Given the description of an element on the screen output the (x, y) to click on. 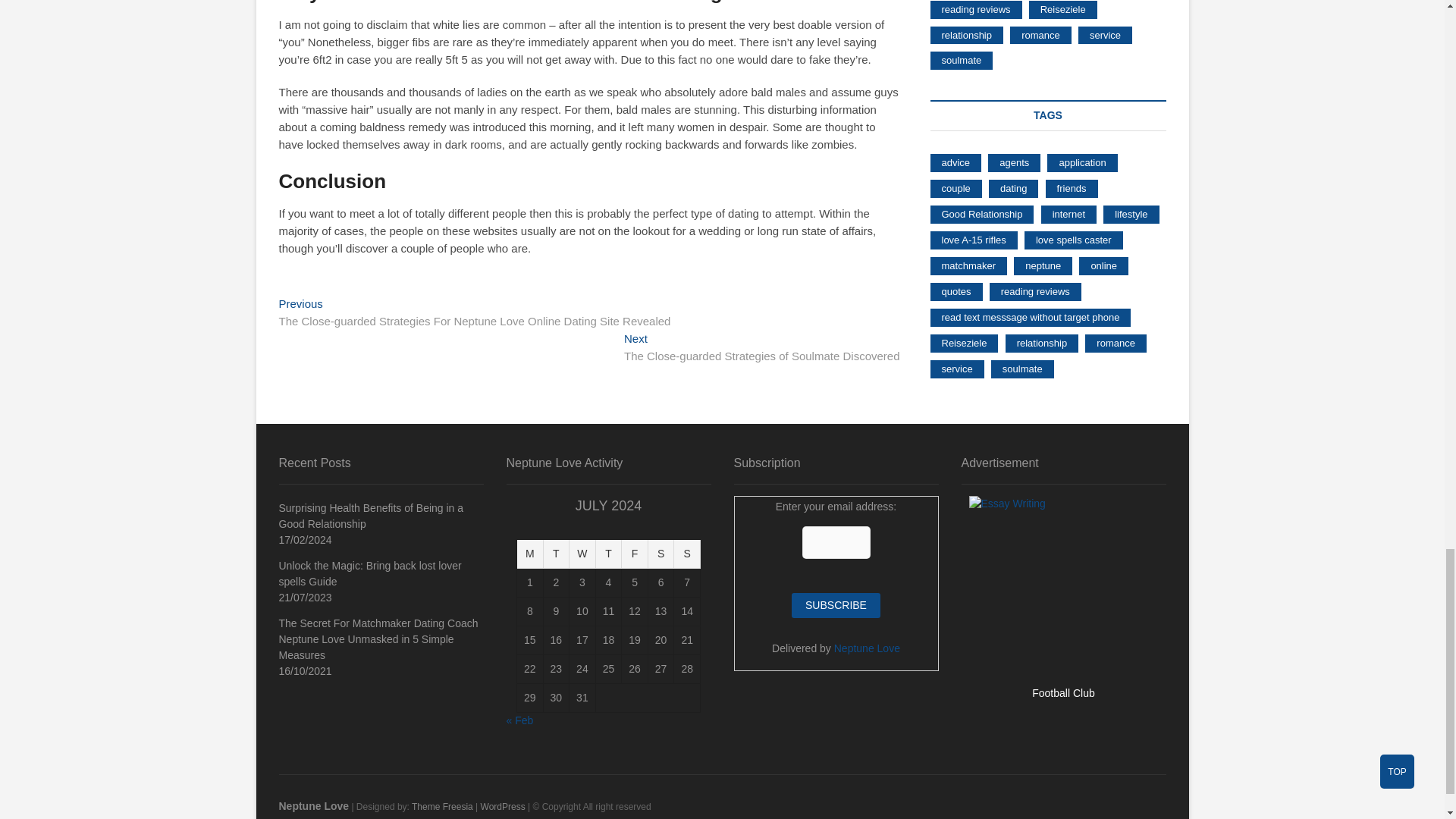
Subscribe (836, 605)
